Given the description of an element on the screen output the (x, y) to click on. 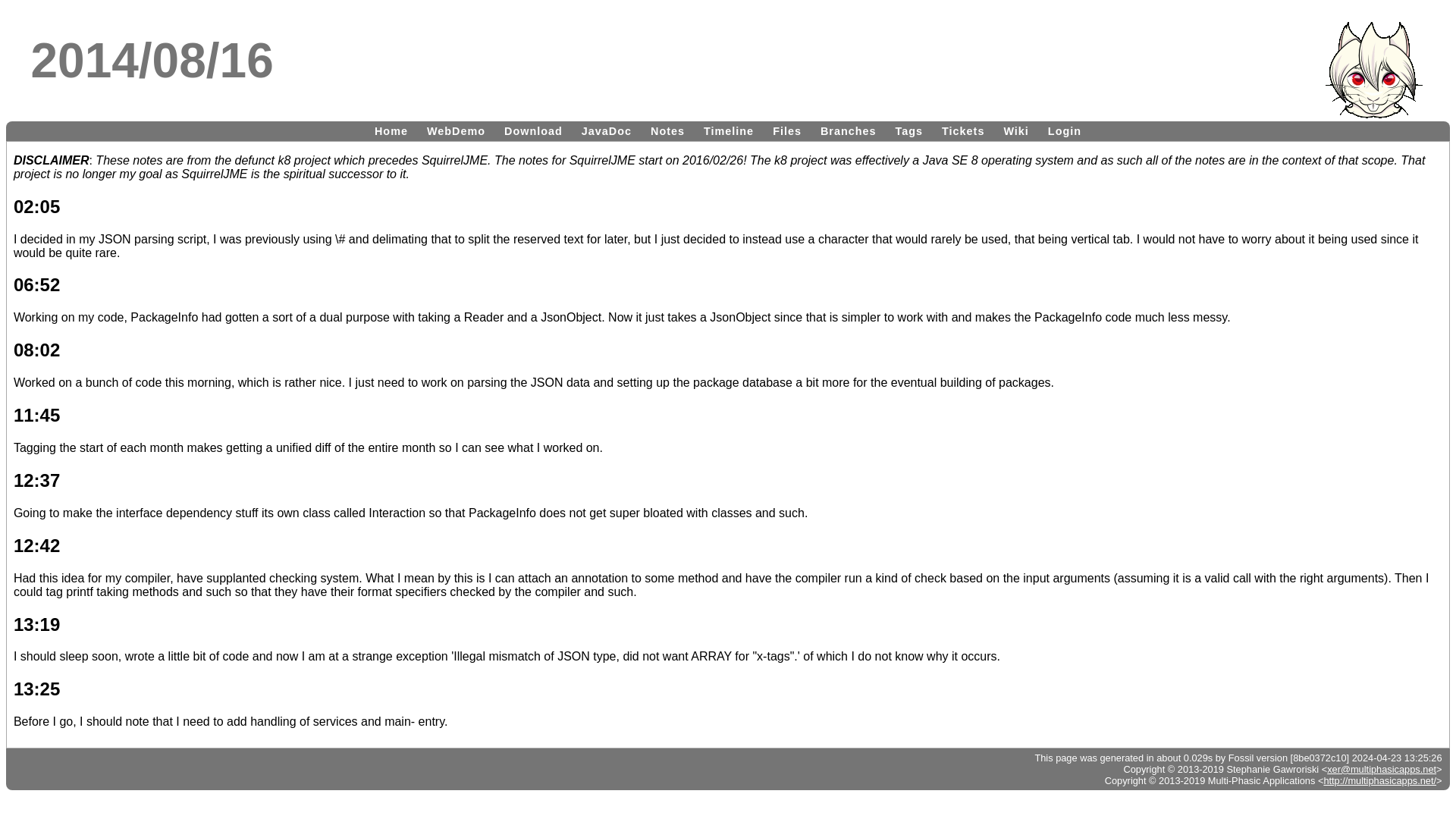
JavaDoc (606, 130)
Tickets (962, 130)
Download (533, 130)
Login (1065, 130)
Branches (847, 130)
Home (390, 130)
Timeline (728, 130)
WebDemo (456, 130)
Wiki (1015, 130)
Files (787, 130)
